Given the description of an element on the screen output the (x, y) to click on. 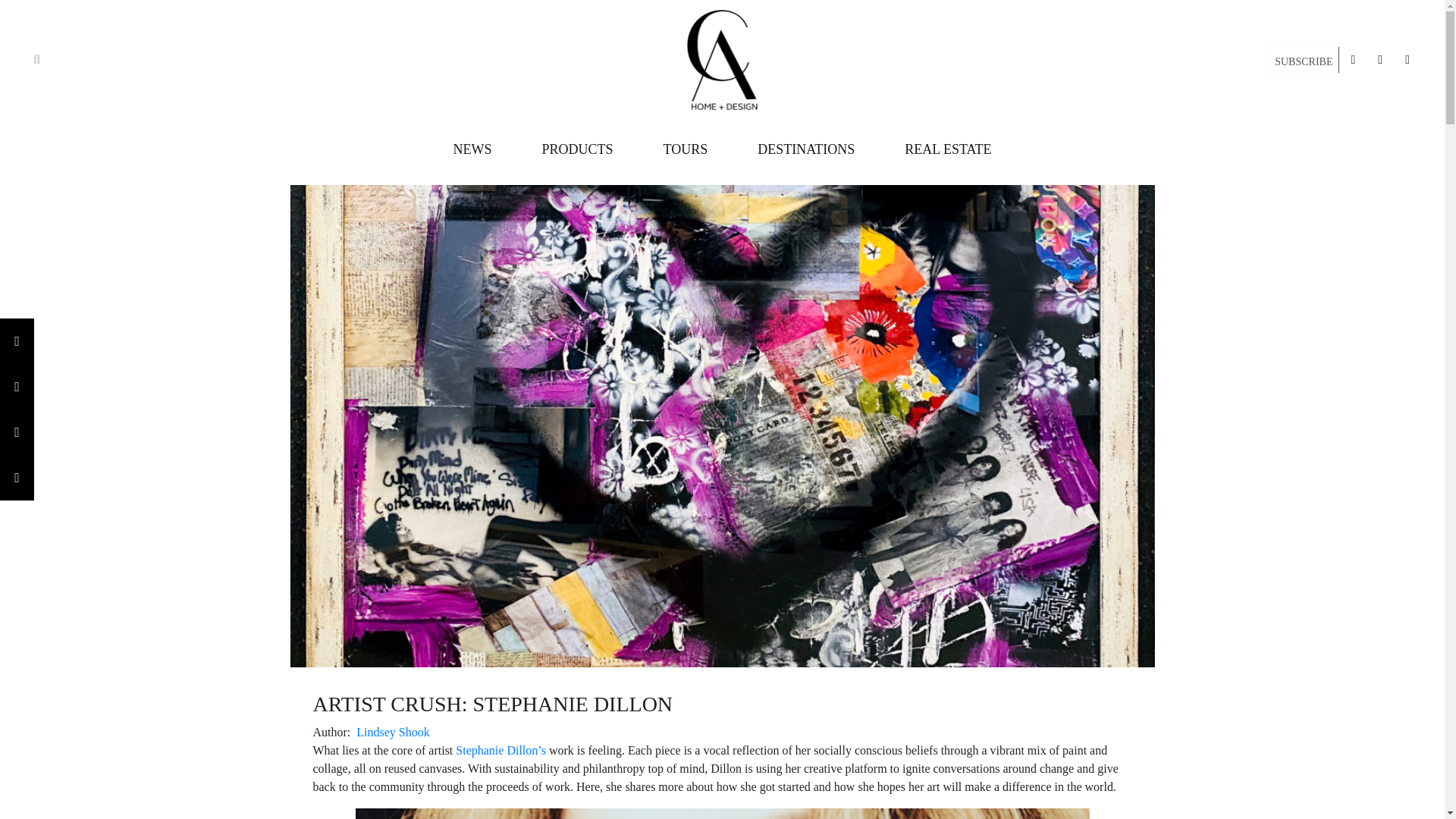
REAL ESTATE (947, 149)
TOURS (684, 149)
SUBSCRIBE (1303, 61)
DESTINATIONS (805, 149)
NEWS (472, 149)
PRODUCTS (576, 149)
SUBSCRIBE (1303, 59)
Posts by Lindsey Shook (392, 731)
